Given the description of an element on the screen output the (x, y) to click on. 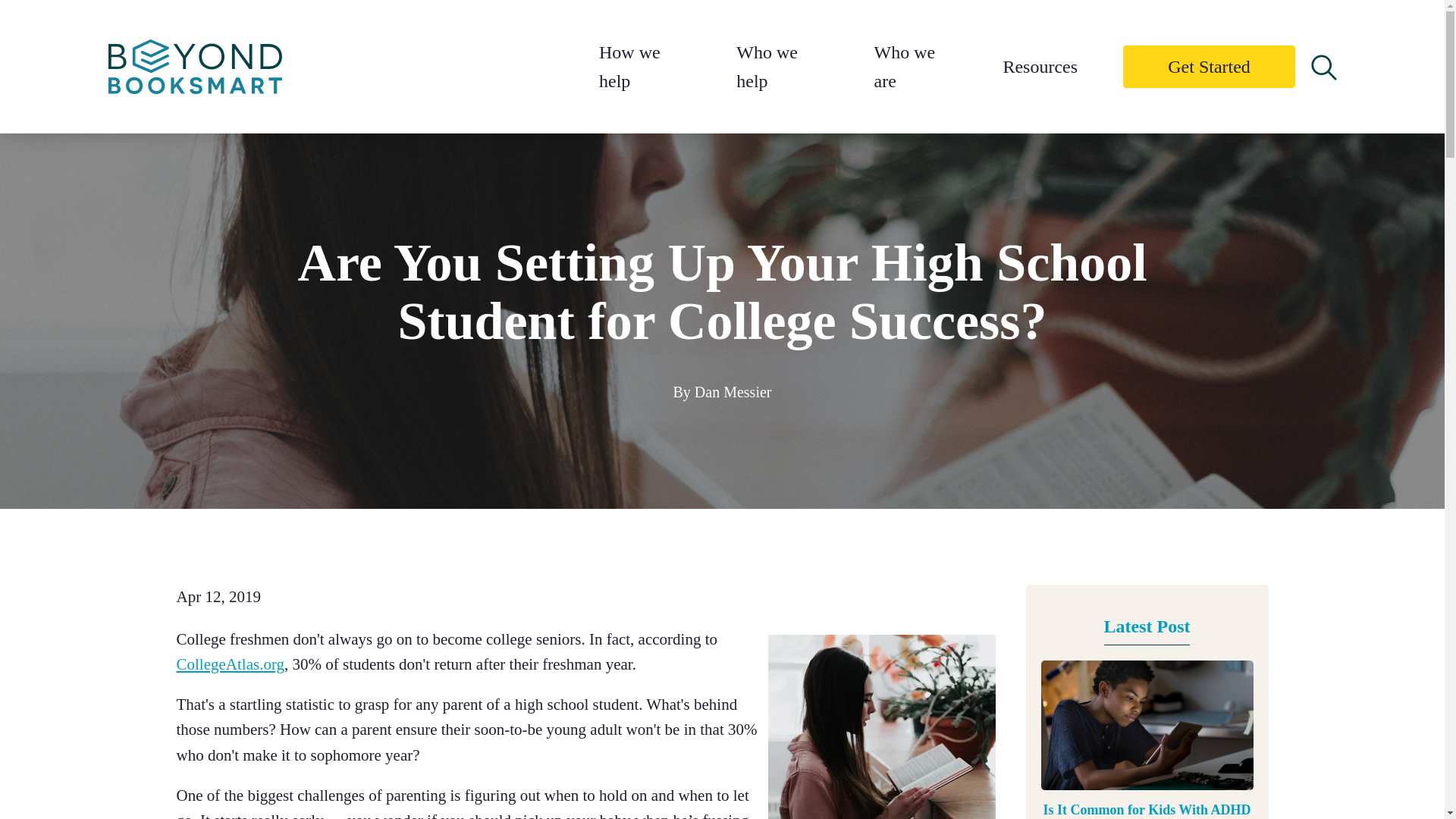
Resources (1040, 66)
Get Started (1208, 66)
Who we help (766, 66)
Is It Common for Kids With ADHD to Have Trouble Sl... (1146, 809)
CollegeAtlas.org (229, 664)
Dan Messier (732, 392)
How we help (629, 66)
Get Started (1208, 66)
brand (194, 66)
Who we are (905, 66)
